Given the description of an element on the screen output the (x, y) to click on. 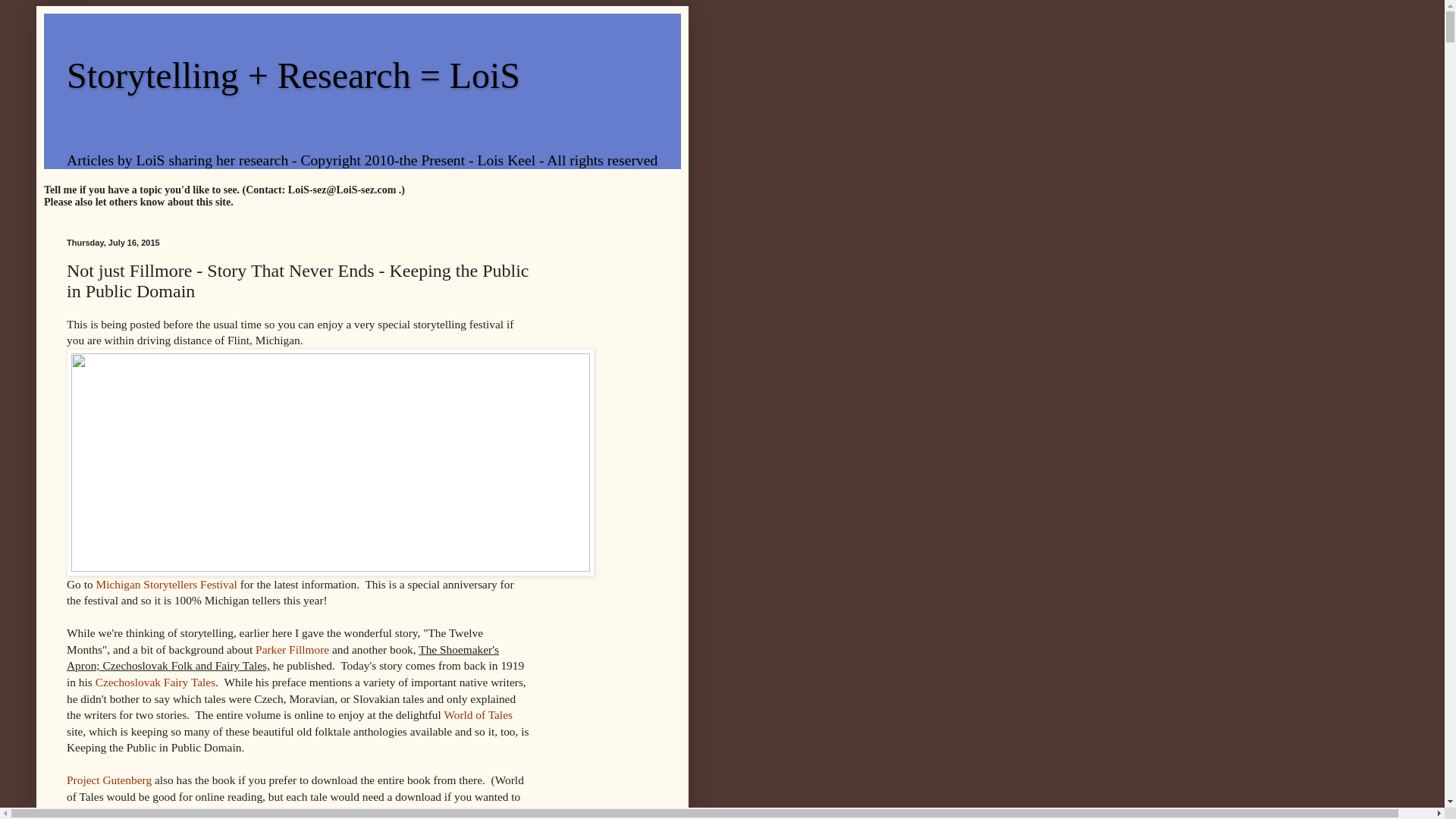
World of Tales (478, 714)
Parker Fillmore (292, 649)
Michigan Storytellers Festival (165, 584)
The Shoemaker's Apron; Czechoslovak Folk and Fairy Tales (247, 812)
Project Gutenberg (108, 779)
Czechoslovak Fairy Tales (155, 681)
